Given the description of an element on the screen output the (x, y) to click on. 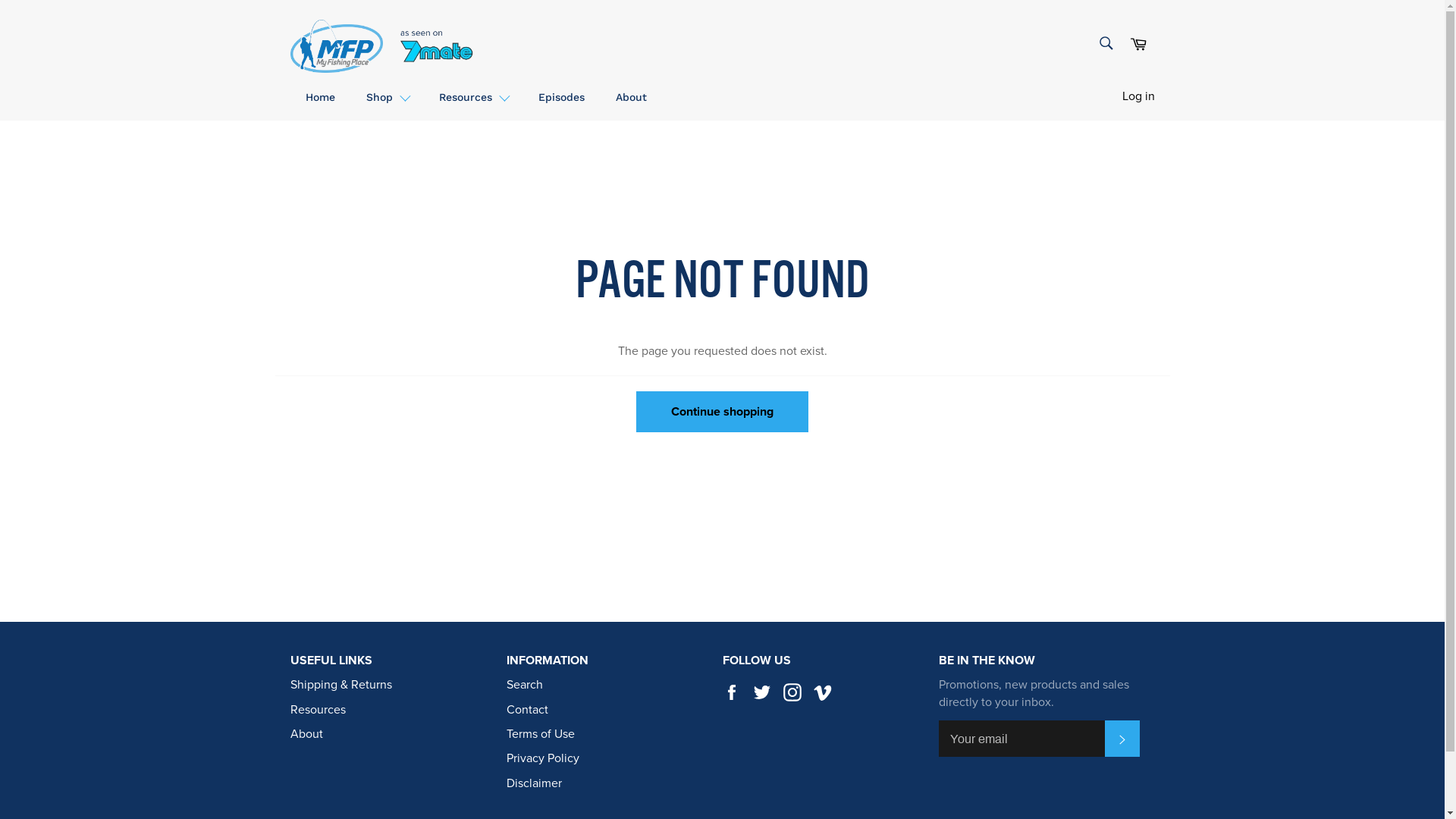
Cart Element type: text (1138, 44)
About Element type: text (631, 96)
Search Element type: text (524, 684)
Privacy Policy Element type: text (542, 757)
Subscribe Element type: text (1121, 738)
Search Element type: text (1105, 43)
Log in Element type: text (1138, 95)
Resources Element type: text (317, 709)
Continue shopping Element type: text (722, 411)
Shop Element type: text (386, 96)
Contact Element type: text (527, 709)
Home Element type: text (319, 96)
Facebook Element type: text (734, 692)
Instagram Element type: text (795, 692)
Shipping & Returns Element type: text (340, 684)
Twitter Element type: text (765, 692)
Episodes Element type: text (561, 96)
About Element type: text (305, 733)
Disclaimer Element type: text (533, 782)
Vimeo Element type: text (825, 692)
Resources Element type: text (472, 96)
Terms of Use Element type: text (540, 733)
